Given the description of an element on the screen output the (x, y) to click on. 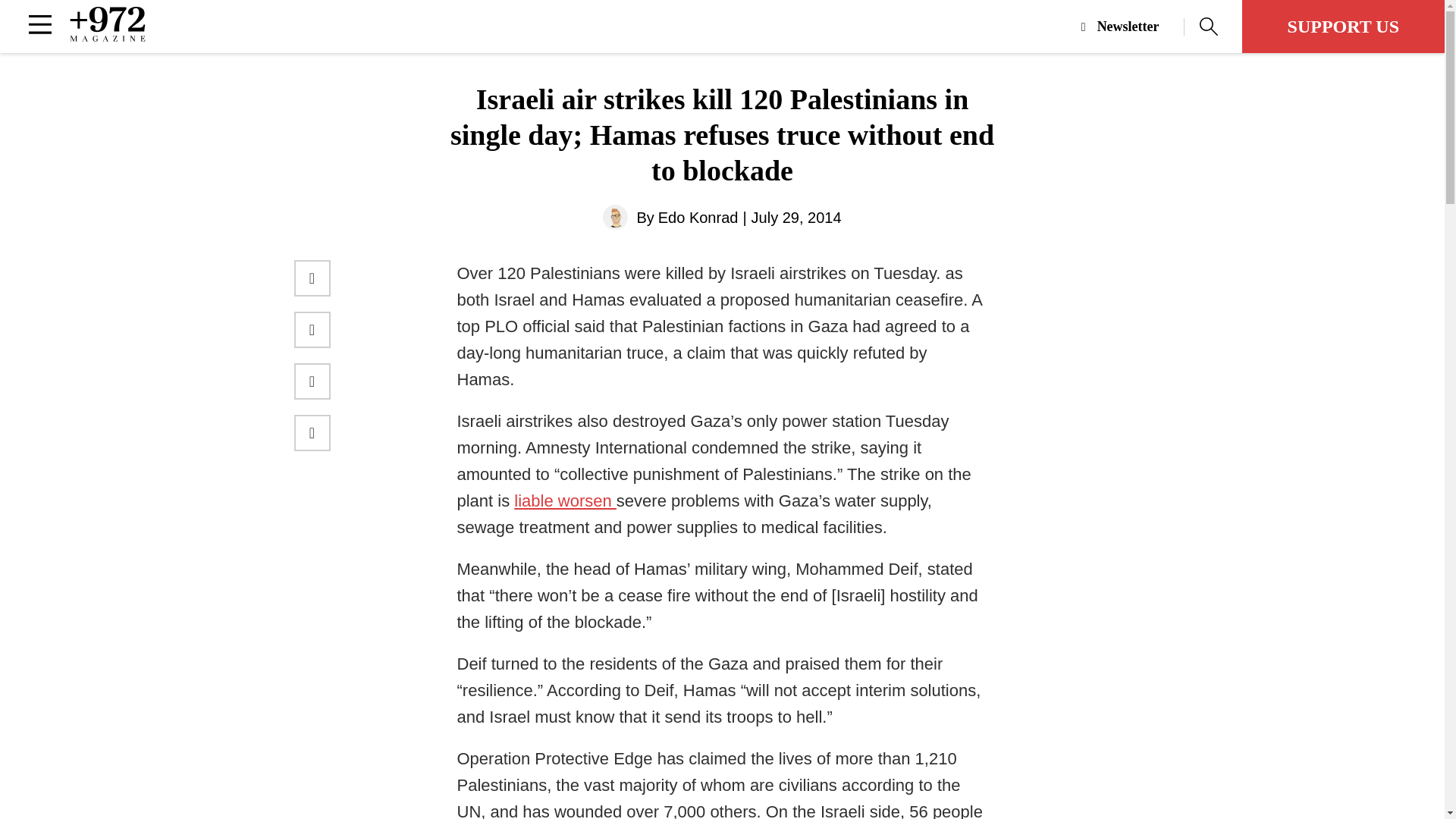
Edo Konrad (698, 216)
Edo Konrad (698, 216)
liable worsen (564, 500)
Edo Konrad (614, 217)
Newsletter (1133, 27)
